Given the description of an element on the screen output the (x, y) to click on. 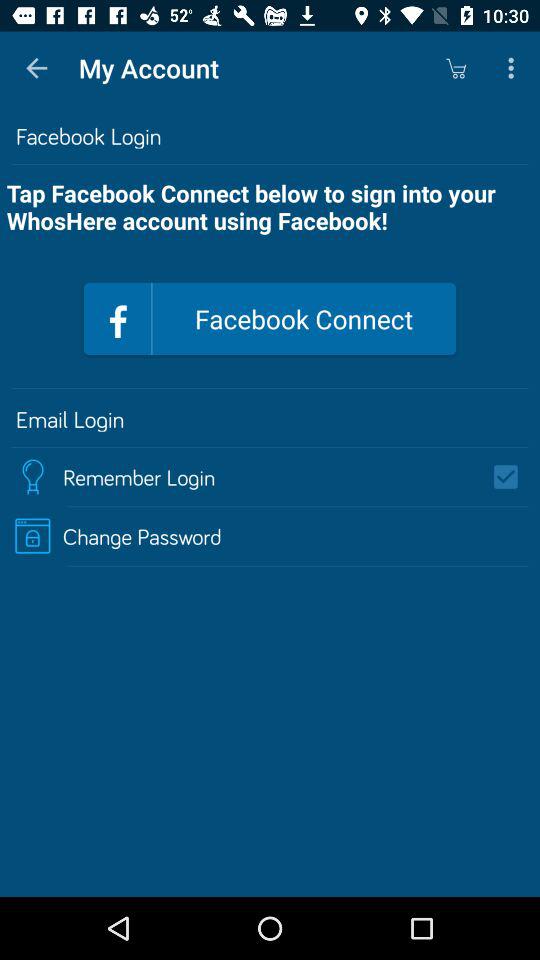
choose the item above facebook login item (455, 67)
